Given the description of an element on the screen output the (x, y) to click on. 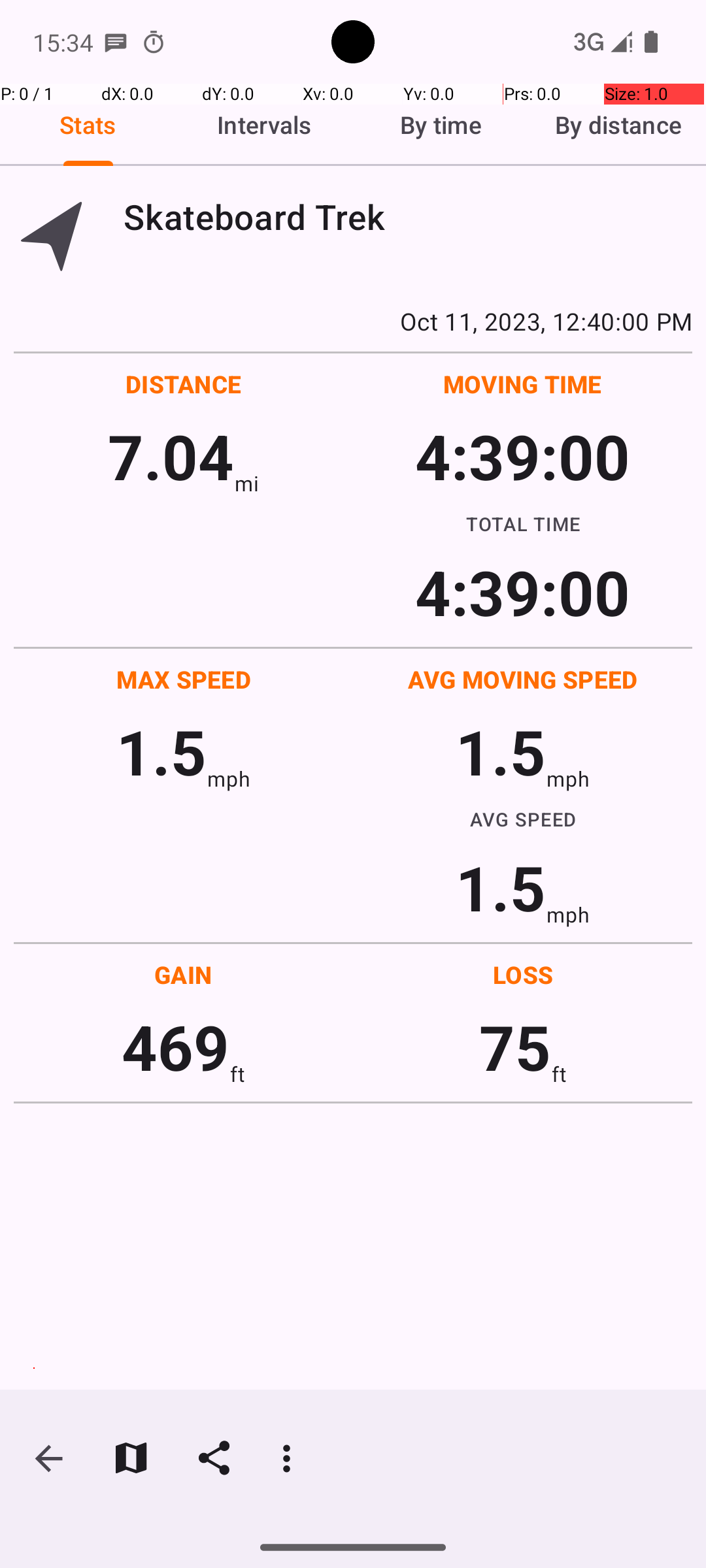
Skateboard Trek Element type: android.widget.TextView (407, 216)
Oct 11, 2023, 12:40:00 PM Element type: android.widget.TextView (352, 320)
7.04 Element type: android.widget.TextView (170, 455)
4:39:00 Element type: android.widget.TextView (522, 455)
1.5 Element type: android.widget.TextView (161, 750)
469 Element type: android.widget.TextView (175, 1045)
75 Element type: android.widget.TextView (515, 1045)
